Given the description of an element on the screen output the (x, y) to click on. 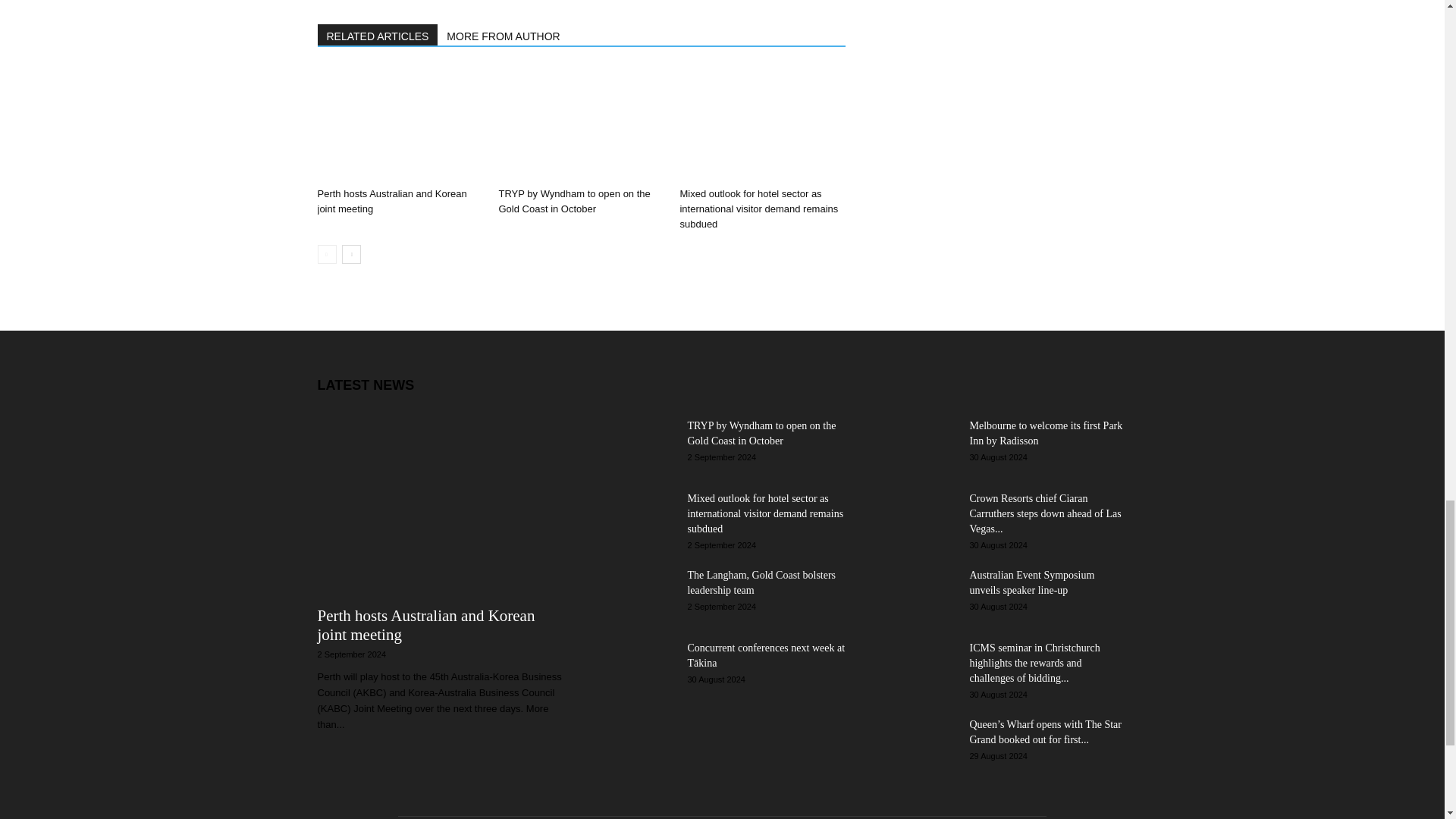
Perth hosts Australian and Korean joint meeting (391, 201)
MORE FROM AUTHOR (503, 34)
TRYP by Wyndham to open on the Gold Coast in October (573, 201)
RELATED ARTICLES (377, 34)
